Given the description of an element on the screen output the (x, y) to click on. 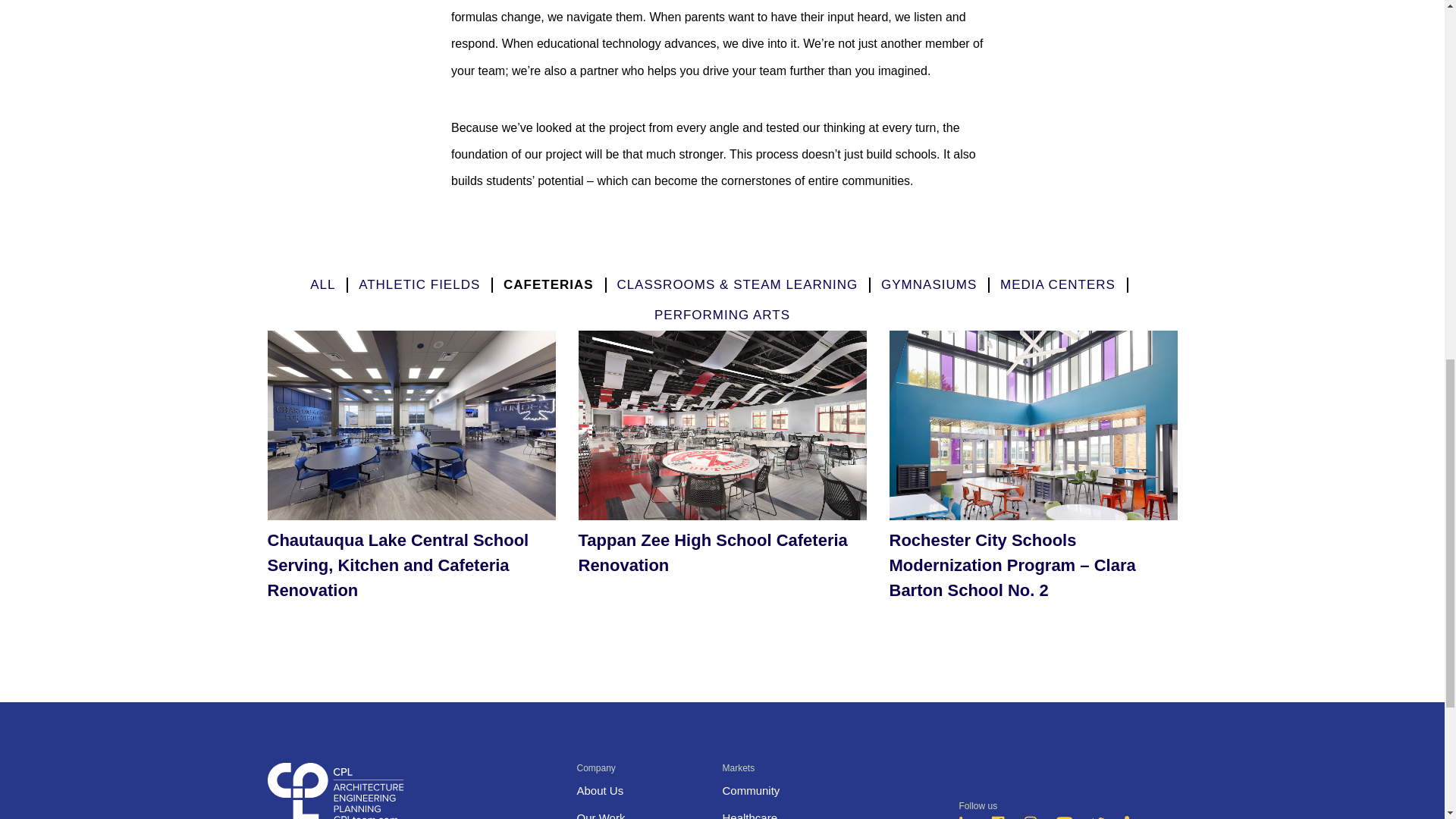
PERFORMING ARTS (721, 314)
CAFETERIAS (548, 284)
ATHLETIC FIELDS (419, 284)
MEDIA CENTERS (1057, 284)
Tappan Zee High School Cafeteria Renovation (722, 470)
GYMNASIUMS (928, 284)
ALL (322, 284)
Our Work (600, 815)
